Given the description of an element on the screen output the (x, y) to click on. 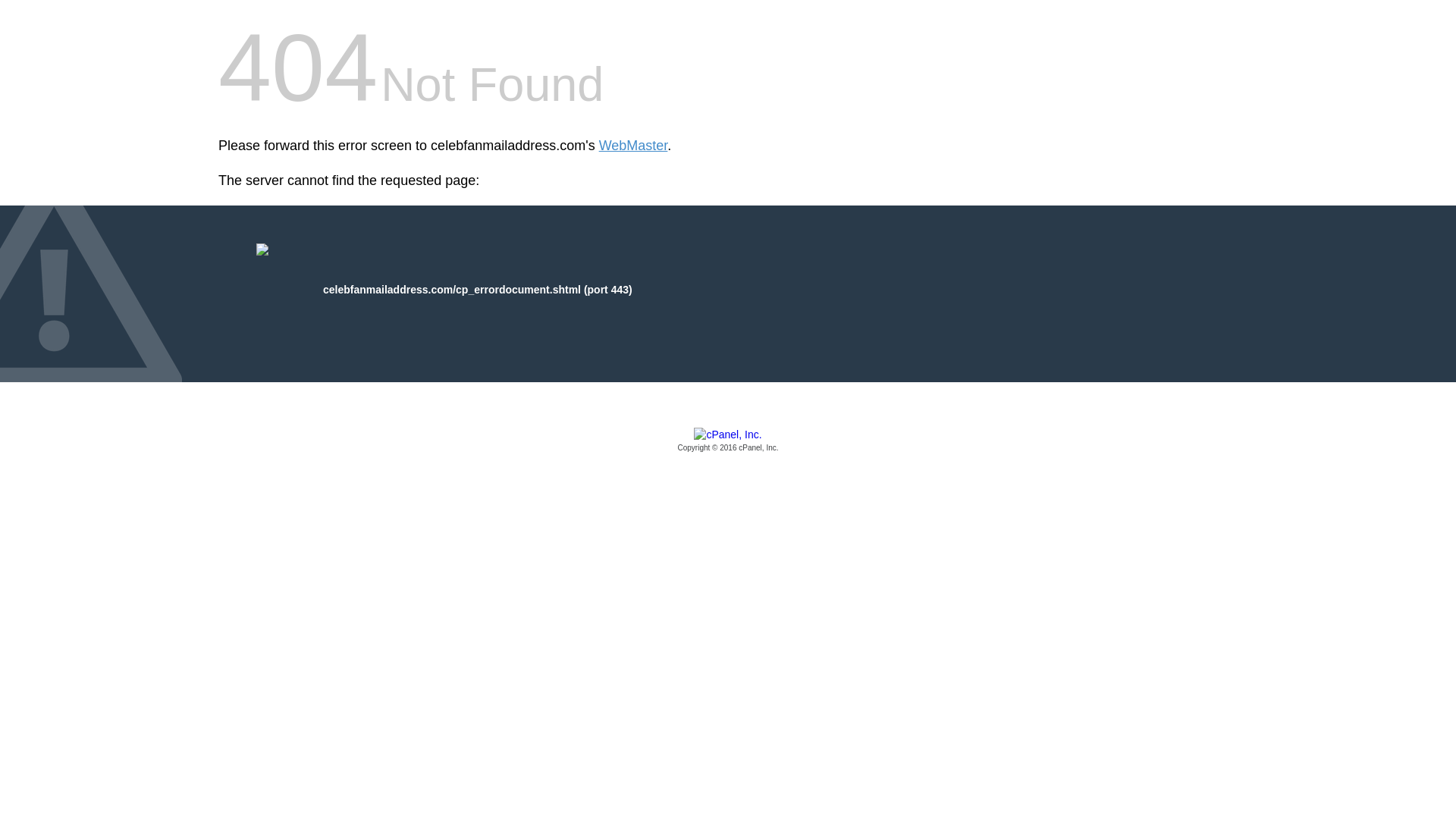
WebMaster (633, 145)
cPanel, Inc. (727, 440)
